Given the description of an element on the screen output the (x, y) to click on. 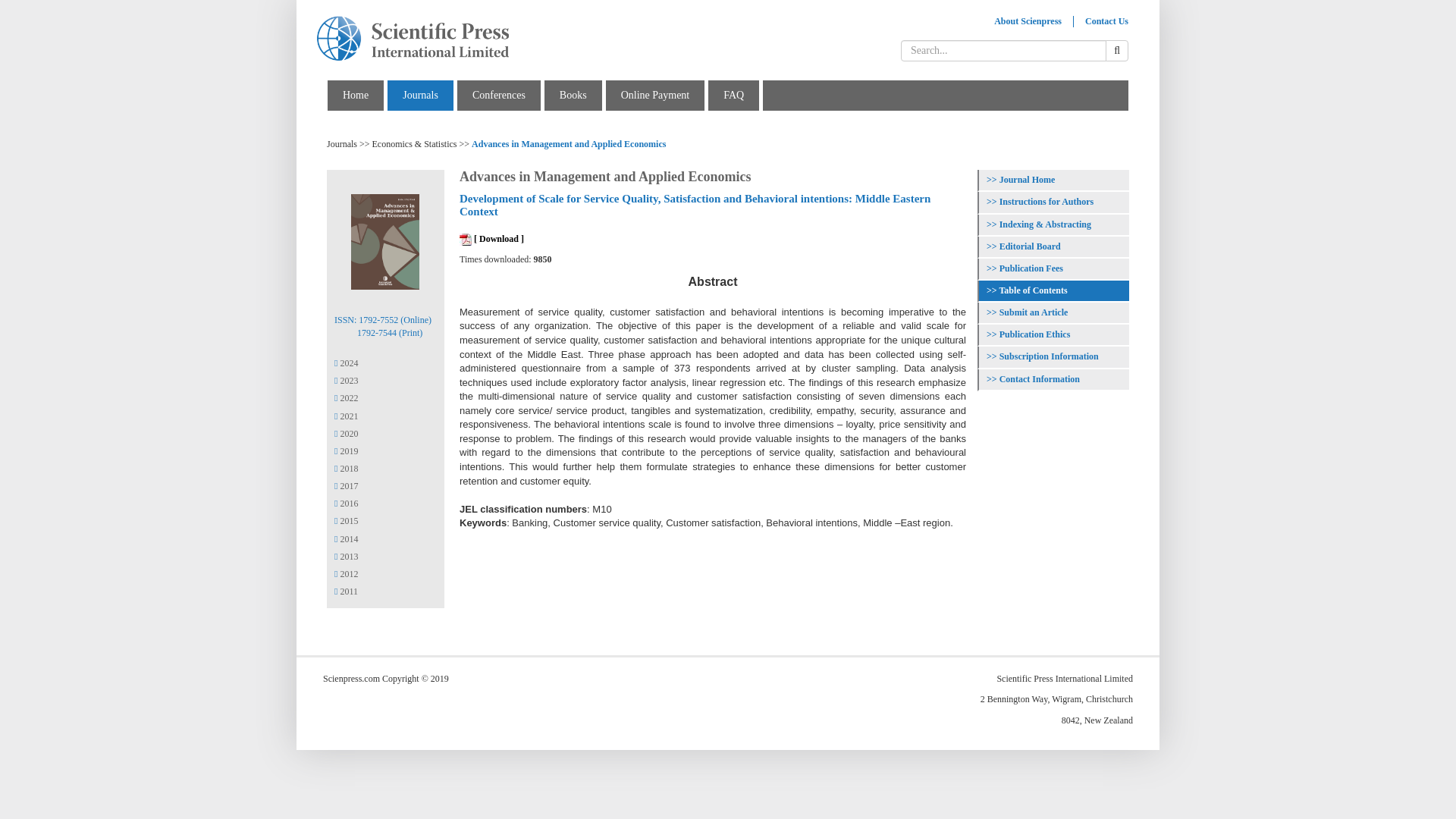
Books (572, 94)
FAQ (733, 94)
Online Payment (655, 94)
2022 (346, 398)
2024 (346, 362)
Home (355, 94)
Contact Us (1107, 21)
Conferences (498, 94)
About Scienpress (1027, 21)
Journals (420, 94)
2023 (346, 380)
